Given the description of an element on the screen output the (x, y) to click on. 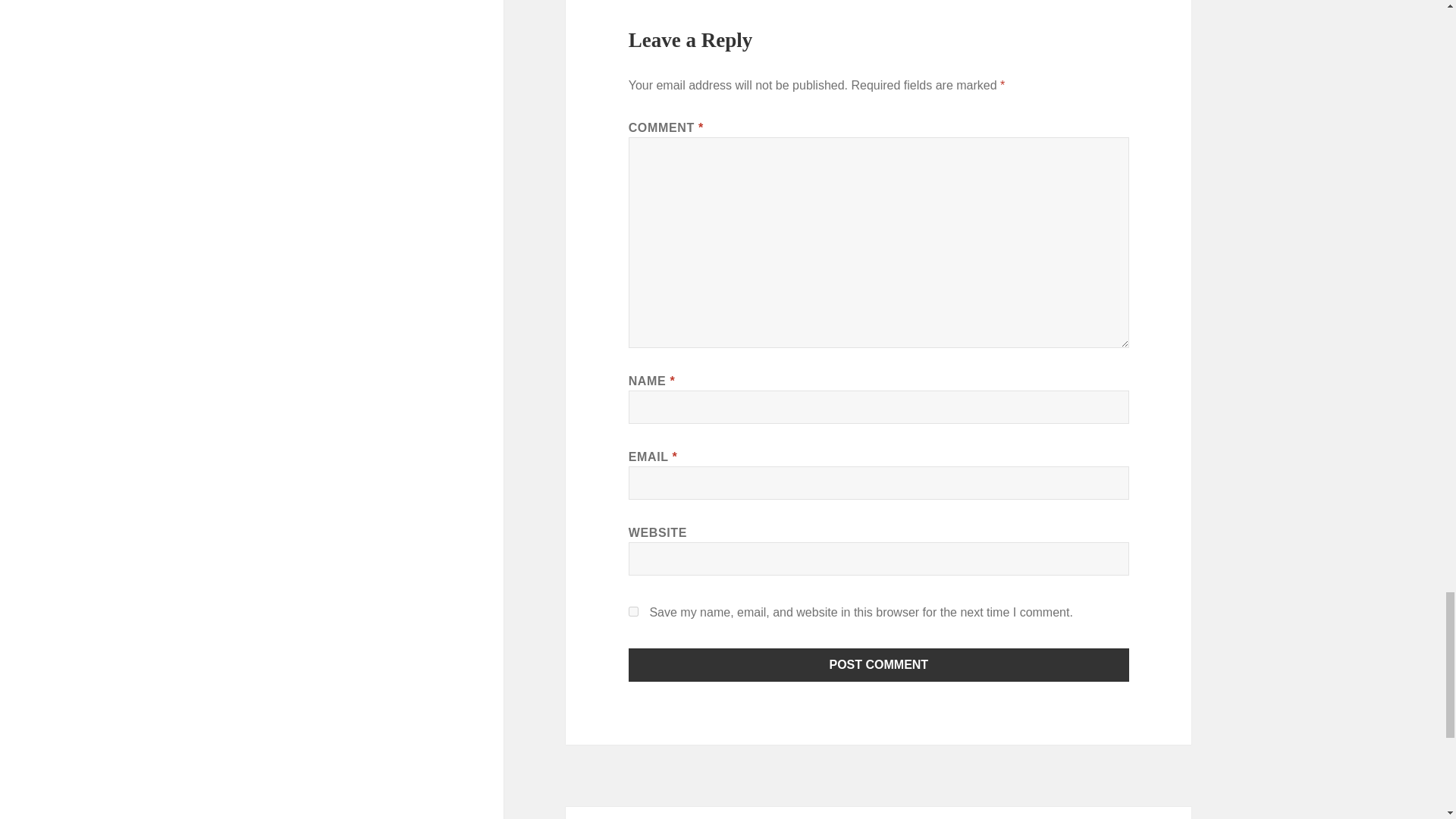
Post Comment (878, 664)
Post Comment (878, 664)
yes (633, 611)
